Given the description of an element on the screen output the (x, y) to click on. 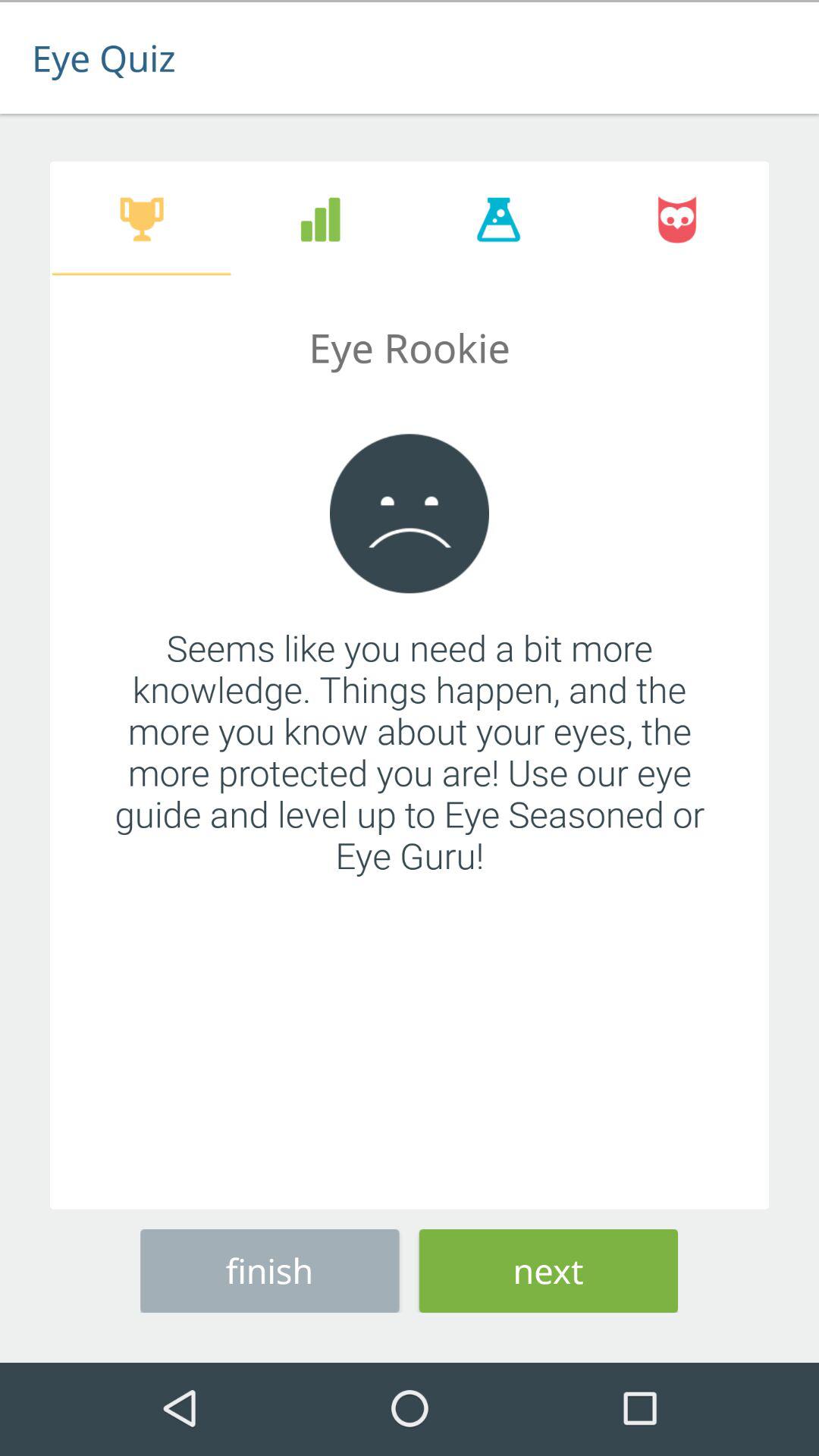
jump to the next item (548, 1268)
